Given the description of an element on the screen output the (x, y) to click on. 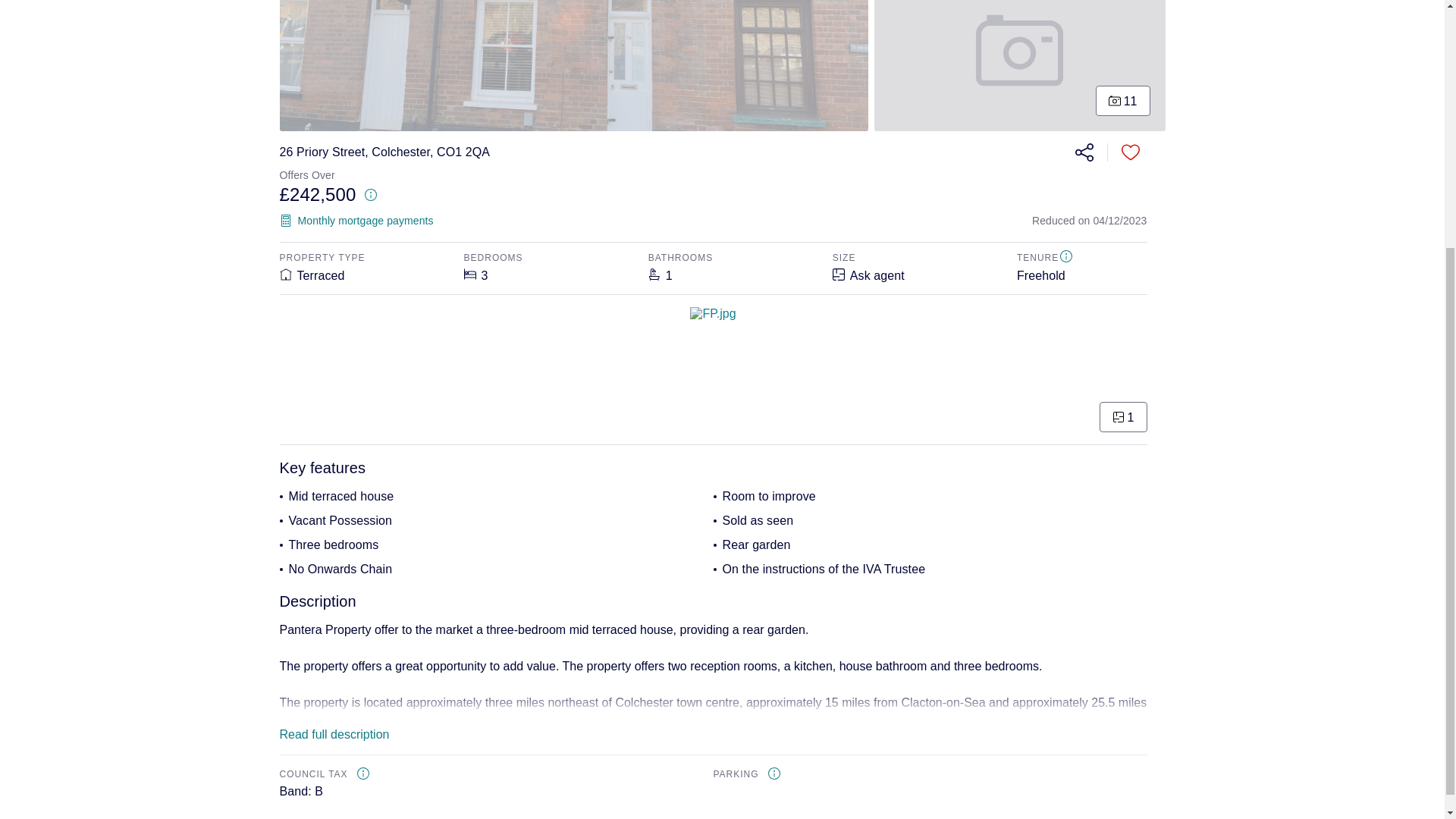
Read more (713, 710)
Share this property (1083, 152)
6.png (1020, 65)
Save this property (1130, 152)
